Given the description of an element on the screen output the (x, y) to click on. 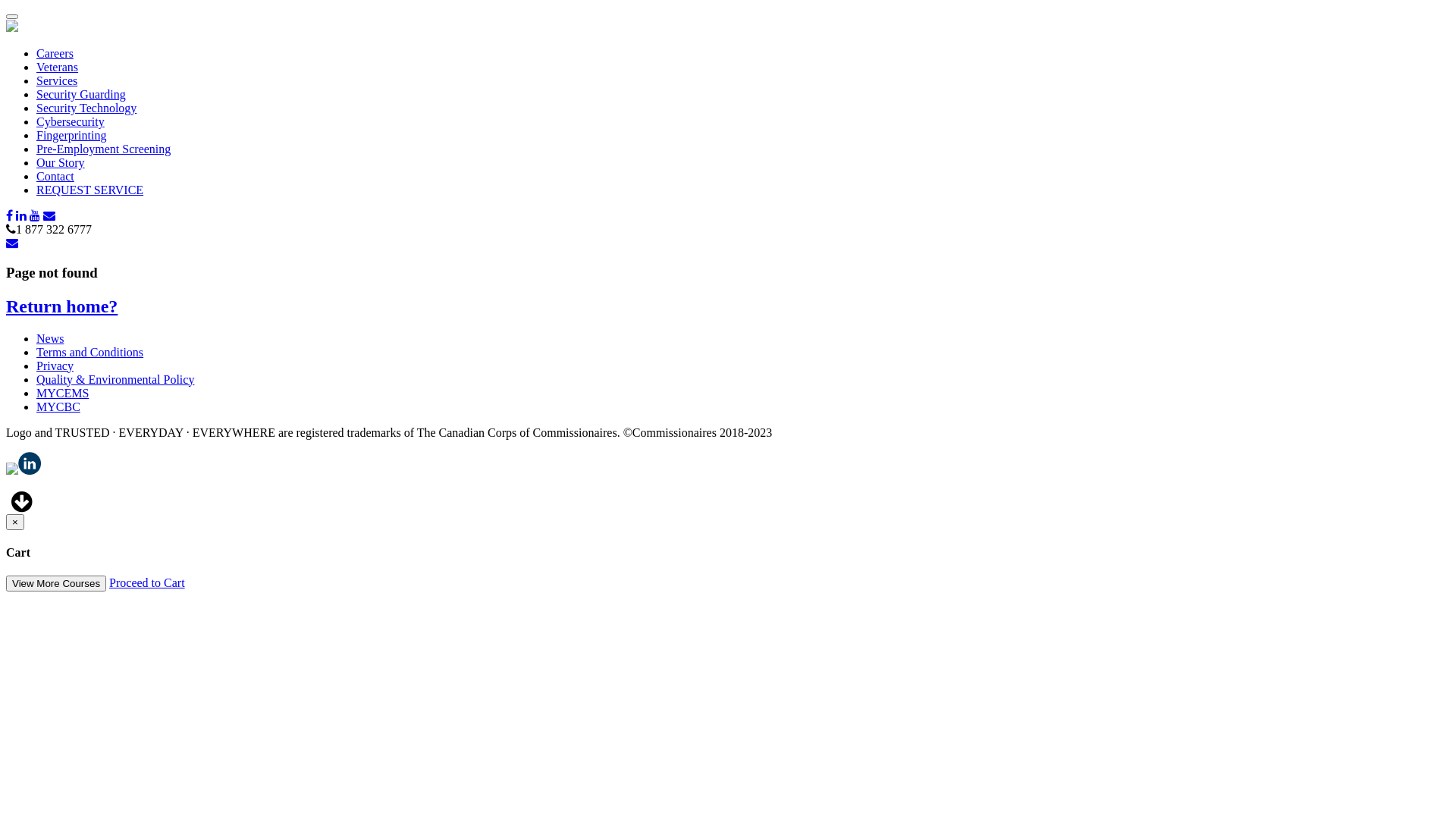
Services Element type: text (56, 80)
Pre-Employment Screening Element type: text (103, 148)
Contact Element type: text (55, 175)
Quality & Environmental Policy Element type: text (115, 379)
Veterans Element type: text (57, 66)
View More Courses Element type: text (56, 583)
Terms and Conditions Element type: text (89, 351)
MYCBC Element type: text (58, 406)
Fingerprinting Element type: text (71, 134)
MYCEMS Element type: text (62, 392)
Cybersecurity Element type: text (70, 121)
News Element type: text (49, 338)
Security Guarding Element type: text (80, 93)
Privacy Element type: text (54, 365)
REQUEST SERVICE Element type: text (89, 189)
Our Story Element type: text (60, 162)
Careers Element type: text (54, 53)
Toggle navigation Element type: text (12, 16)
Proceed to Cart Element type: text (147, 582)
Return home? Element type: text (61, 306)
Security Technology Element type: text (86, 107)
